Given the description of an element on the screen output the (x, y) to click on. 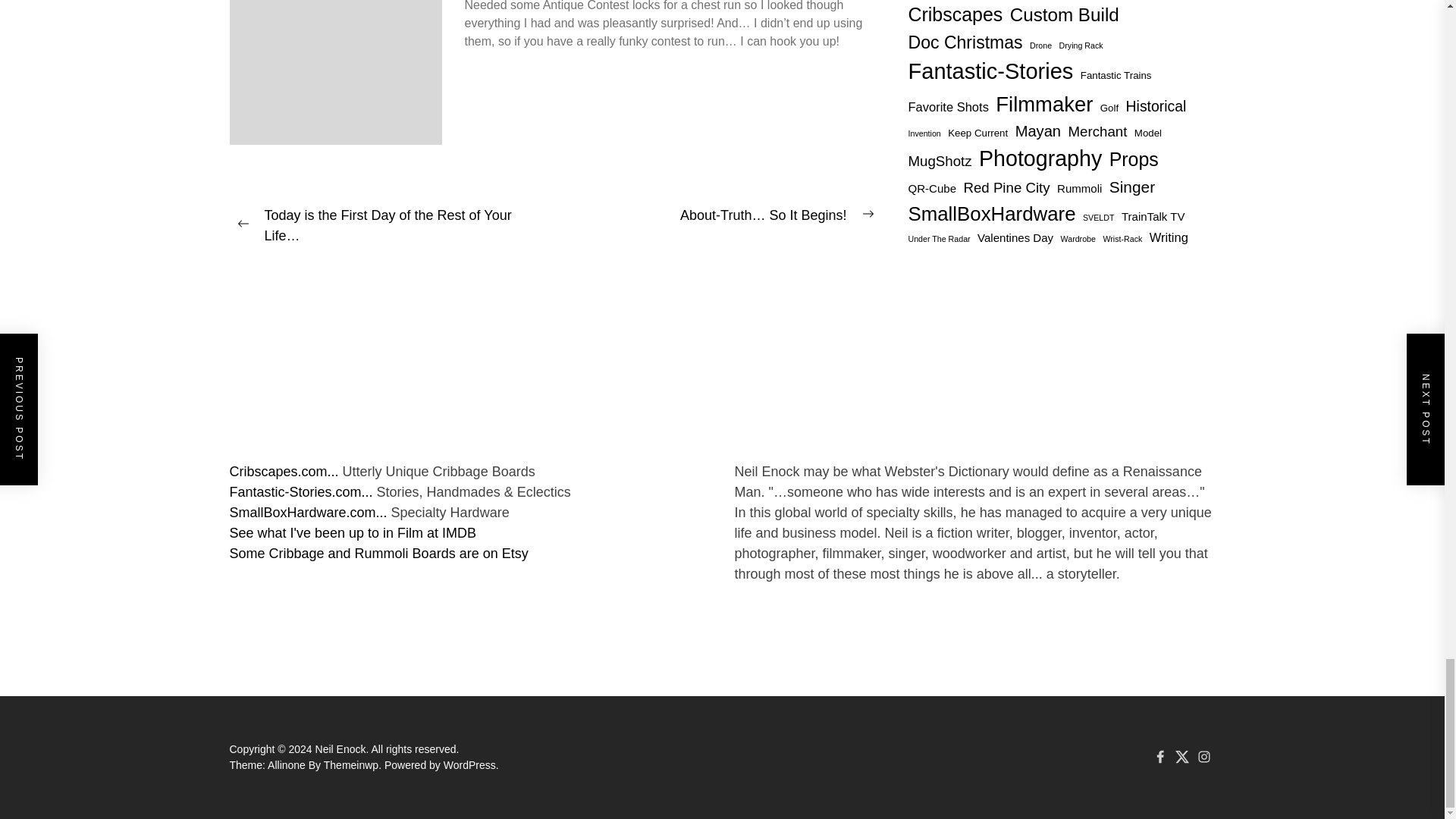
Neil Enock (343, 748)
Themeinwp (353, 765)
